Given the description of an element on the screen output the (x, y) to click on. 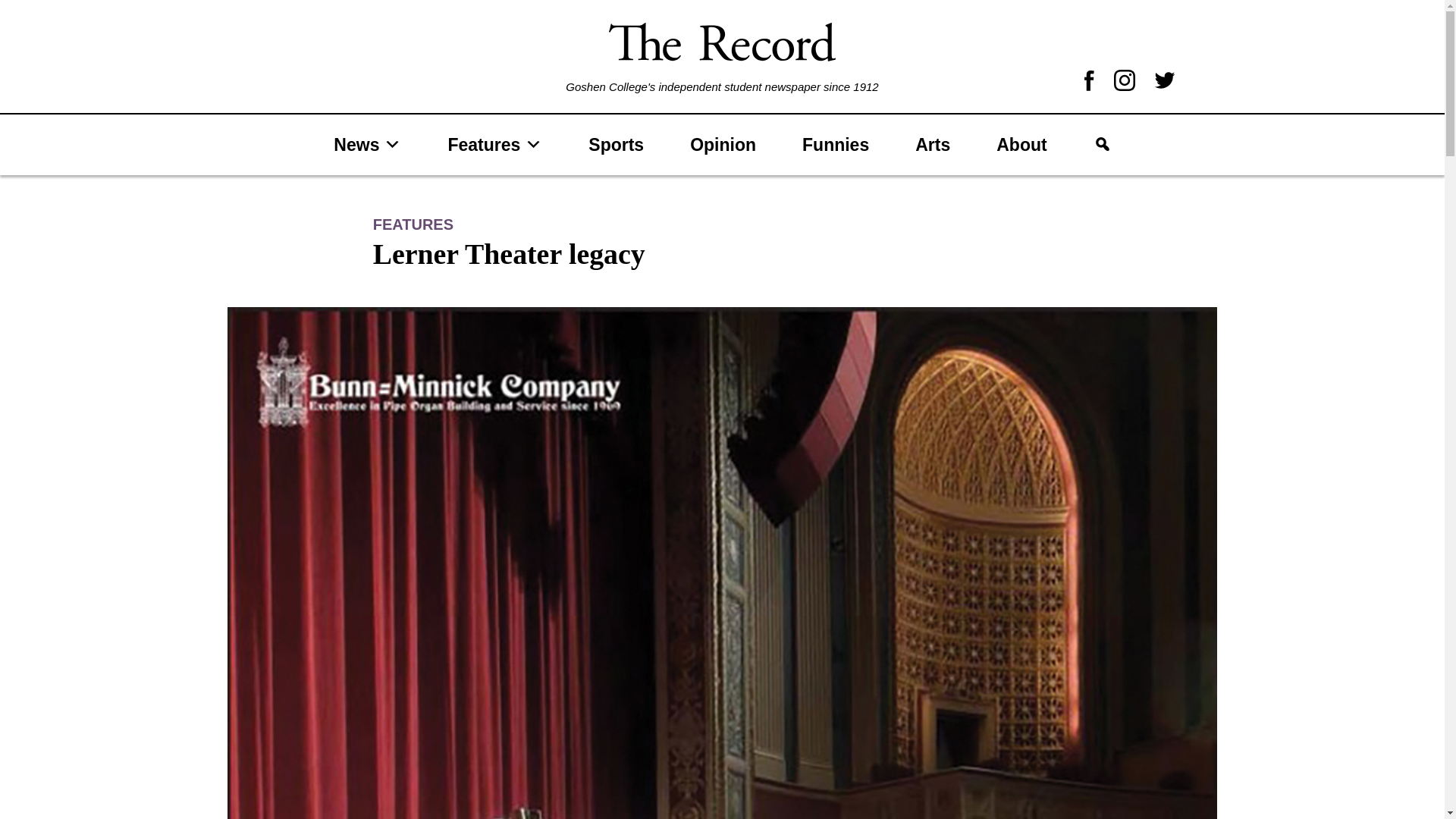
Funnies (834, 144)
News (367, 144)
Features (494, 144)
Arts (932, 144)
Sports (616, 144)
About (1021, 144)
Opinion (722, 144)
